Given the description of an element on the screen output the (x, y) to click on. 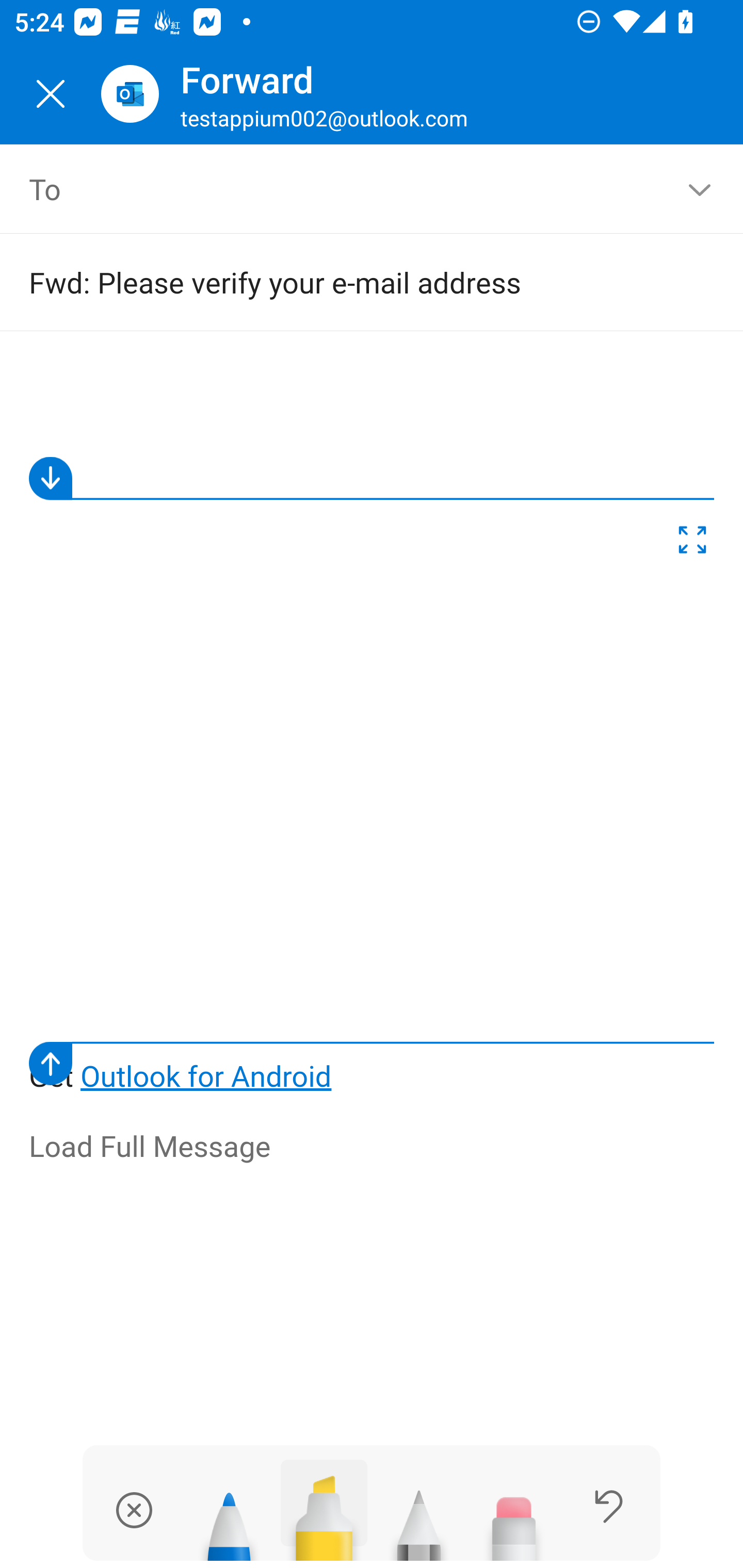
Close (50, 93)
Fwd: Please verify your e-mail address (342, 281)


Get Outlook for Android (372, 726)
Canvas upper bound (371, 478)
Expand Drawing (692, 544)
Canvas Lower Bound (371, 1063)
Load Full Message (372, 1146)
Highlighter tool (323, 1509)
Undo last stroke (608, 1505)
dismiss ink and save drawing (133, 1510)
Pen tool (228, 1517)
Pencil tool (418, 1517)
Eraser tool (513, 1517)
